Given the description of an element on the screen output the (x, y) to click on. 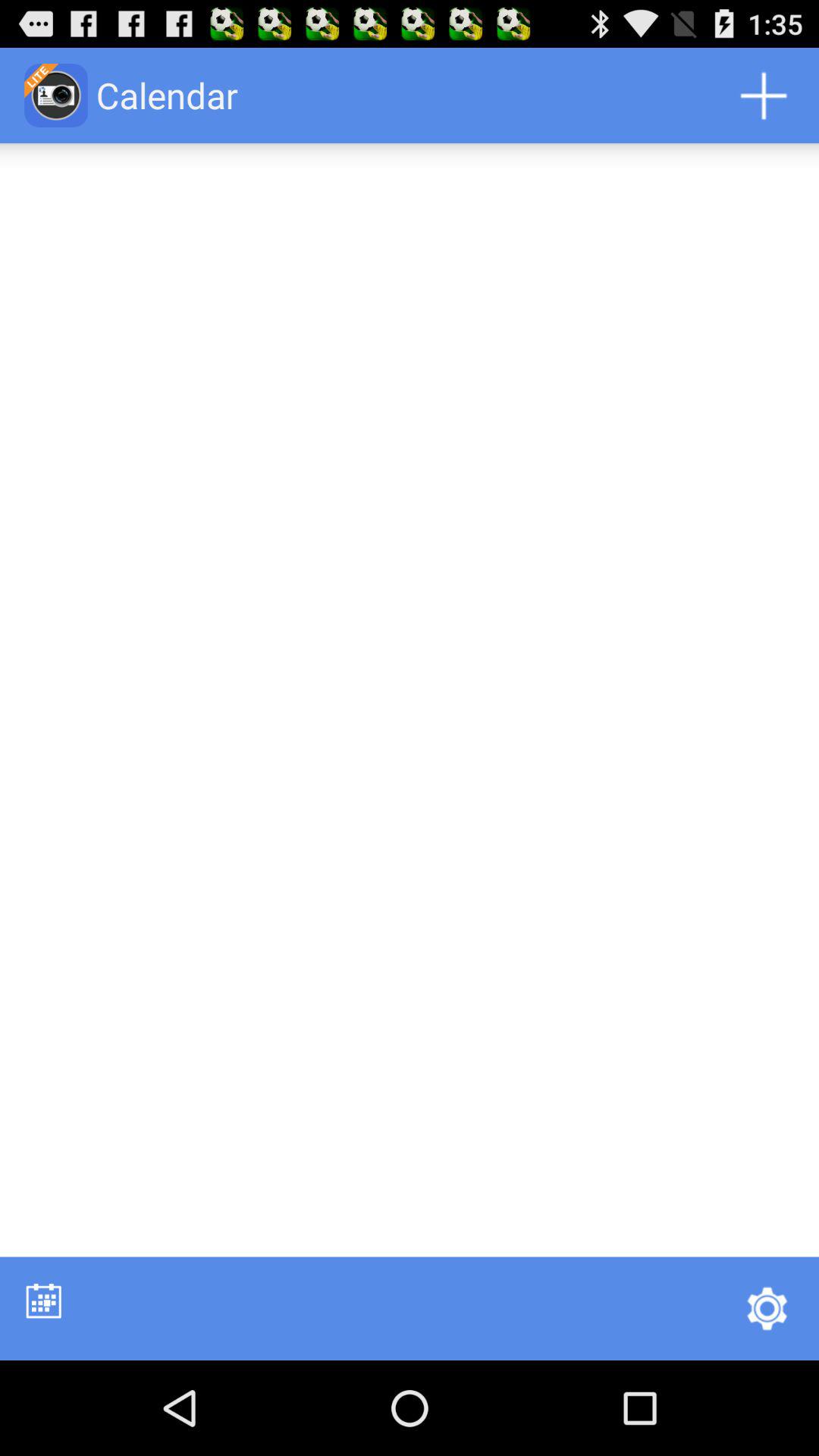
launch icon at the bottom left corner (43, 1300)
